Given the description of an element on the screen output the (x, y) to click on. 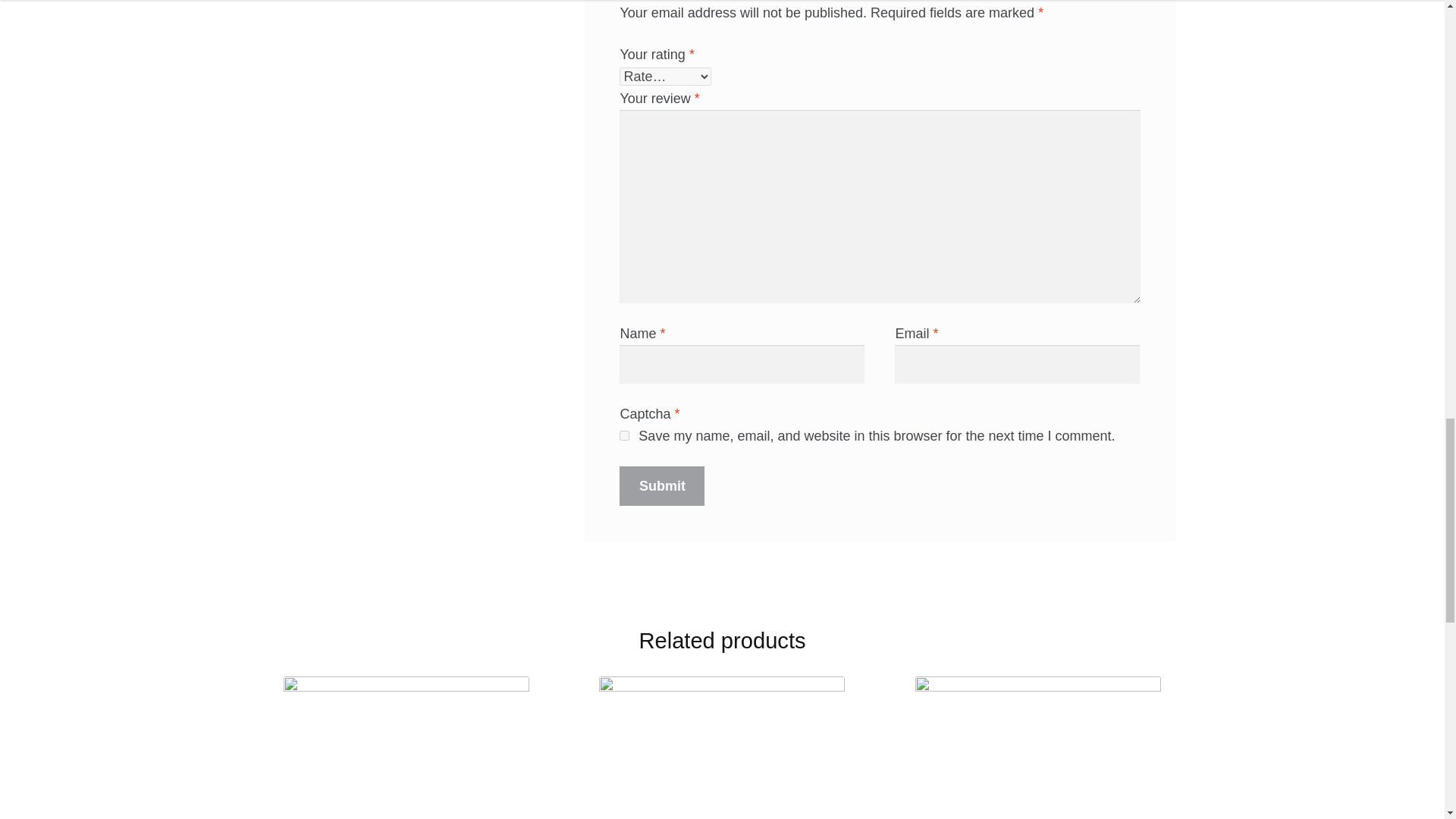
Submit (662, 485)
yes (624, 435)
